Given the description of an element on the screen output the (x, y) to click on. 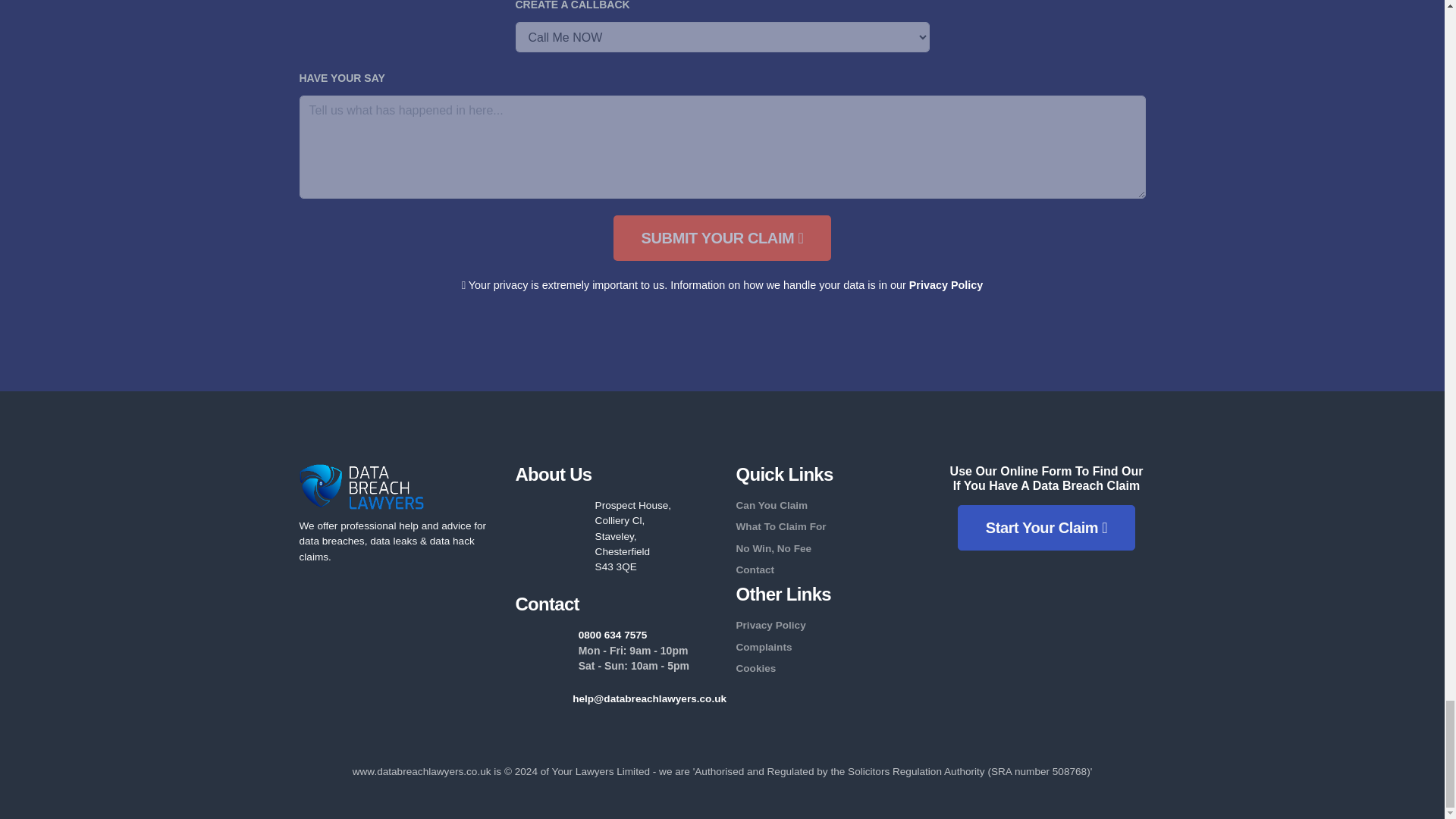
Our Privacy policy (946, 285)
SRA Validation (381, 628)
